Given the description of an element on the screen output the (x, y) to click on. 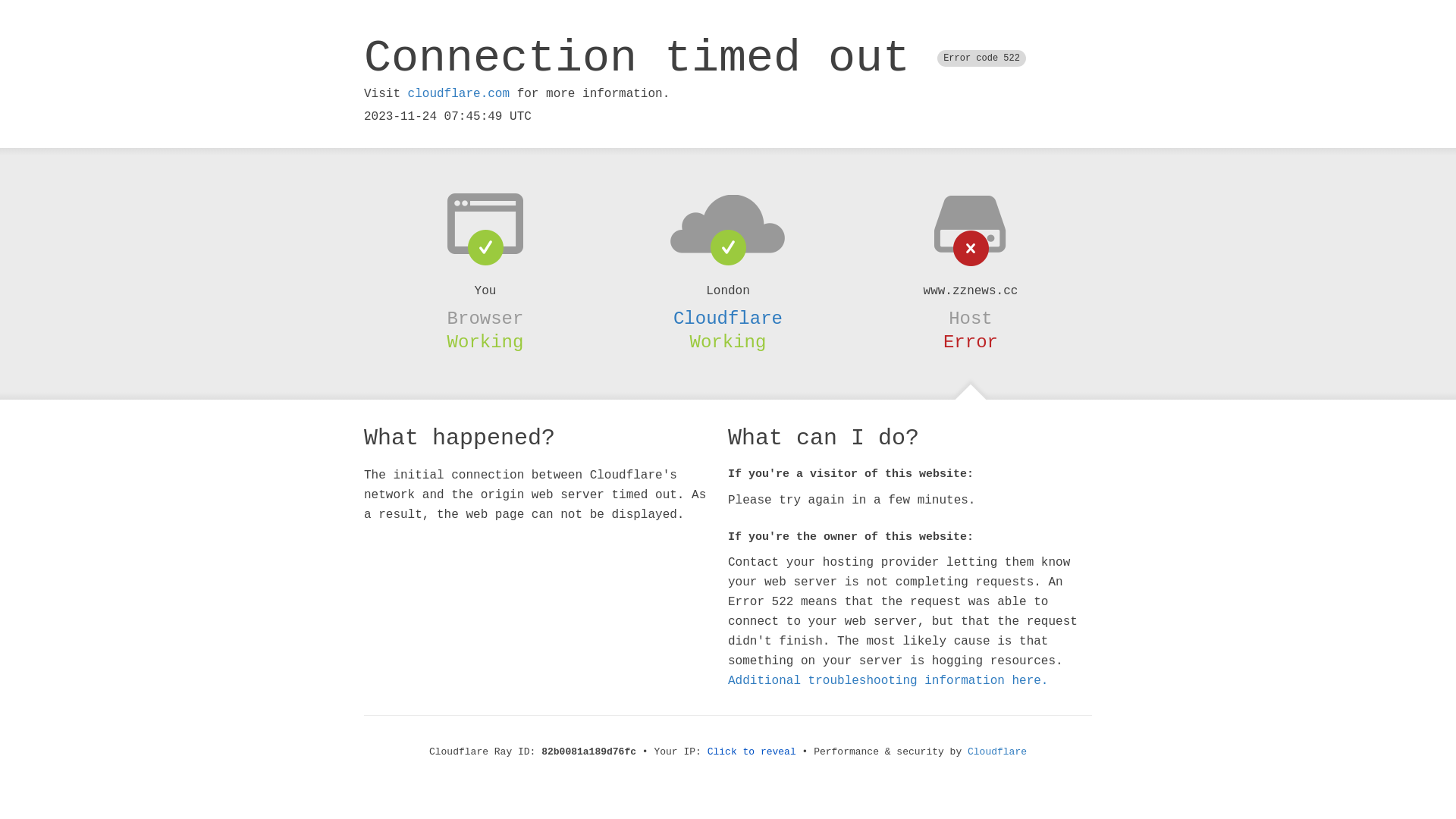
Additional troubleshooting information here. Element type: text (888, 680)
cloudflare.com Element type: text (458, 93)
Click to reveal Element type: text (751, 751)
Cloudflare Element type: text (996, 751)
Cloudflare Element type: text (727, 318)
